Given the description of an element on the screen output the (x, y) to click on. 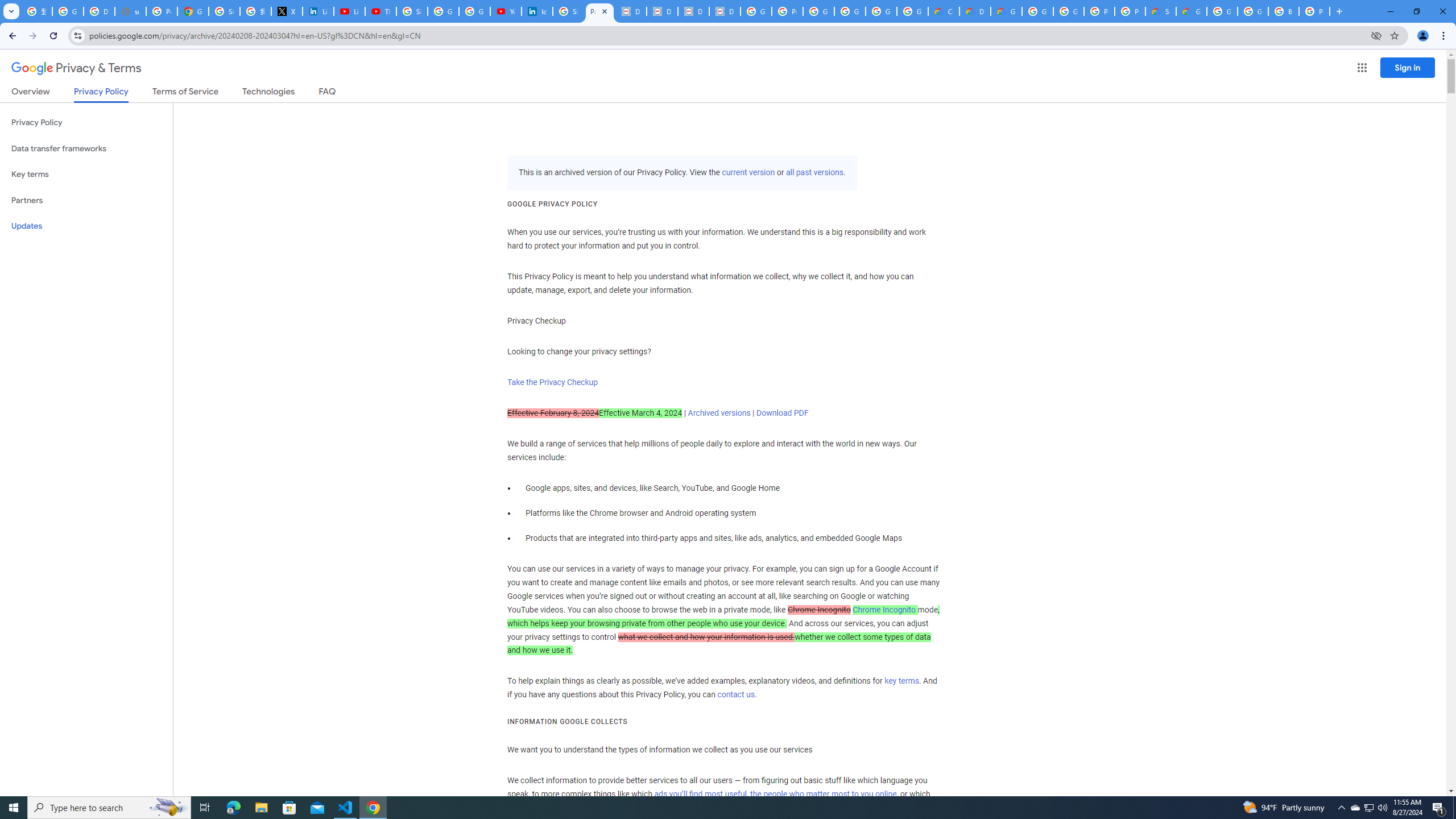
Data Privacy Framework (724, 11)
LinkedIn - YouTube (349, 11)
Sign in - Google Accounts (411, 11)
Google Workspace - Specific Terms (881, 11)
Data Privacy Framework (662, 11)
Gemini for Business and Developers | Google Cloud (1005, 11)
